Given the description of an element on the screen output the (x, y) to click on. 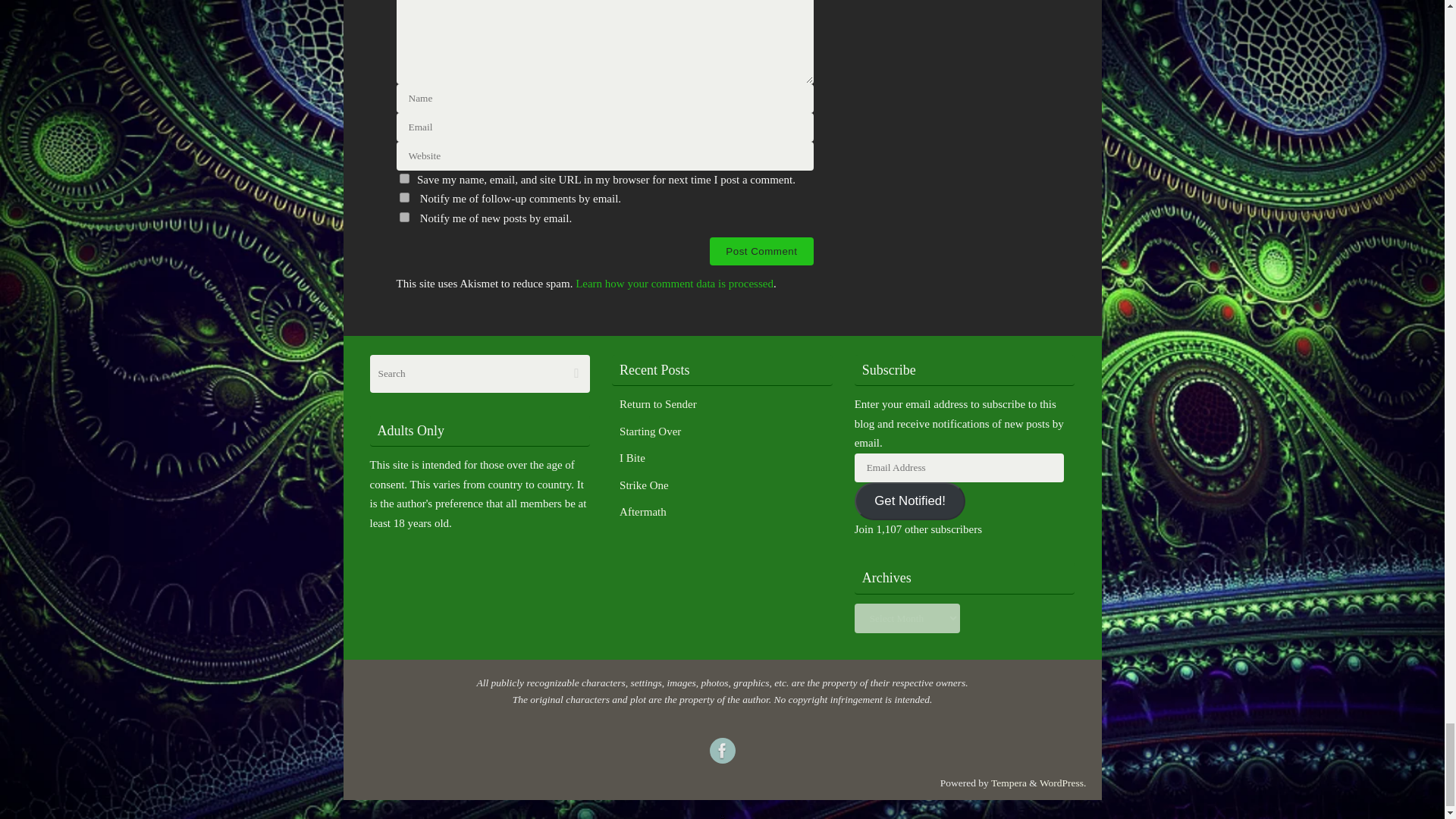
Facebook (722, 750)
subscribe (403, 216)
subscribe (403, 197)
yes (403, 178)
Post Comment (761, 251)
Semantic Personal Publishing Platform (1062, 782)
Tempera Theme by Cryout Creations (1008, 782)
